Given the description of an element on the screen output the (x, y) to click on. 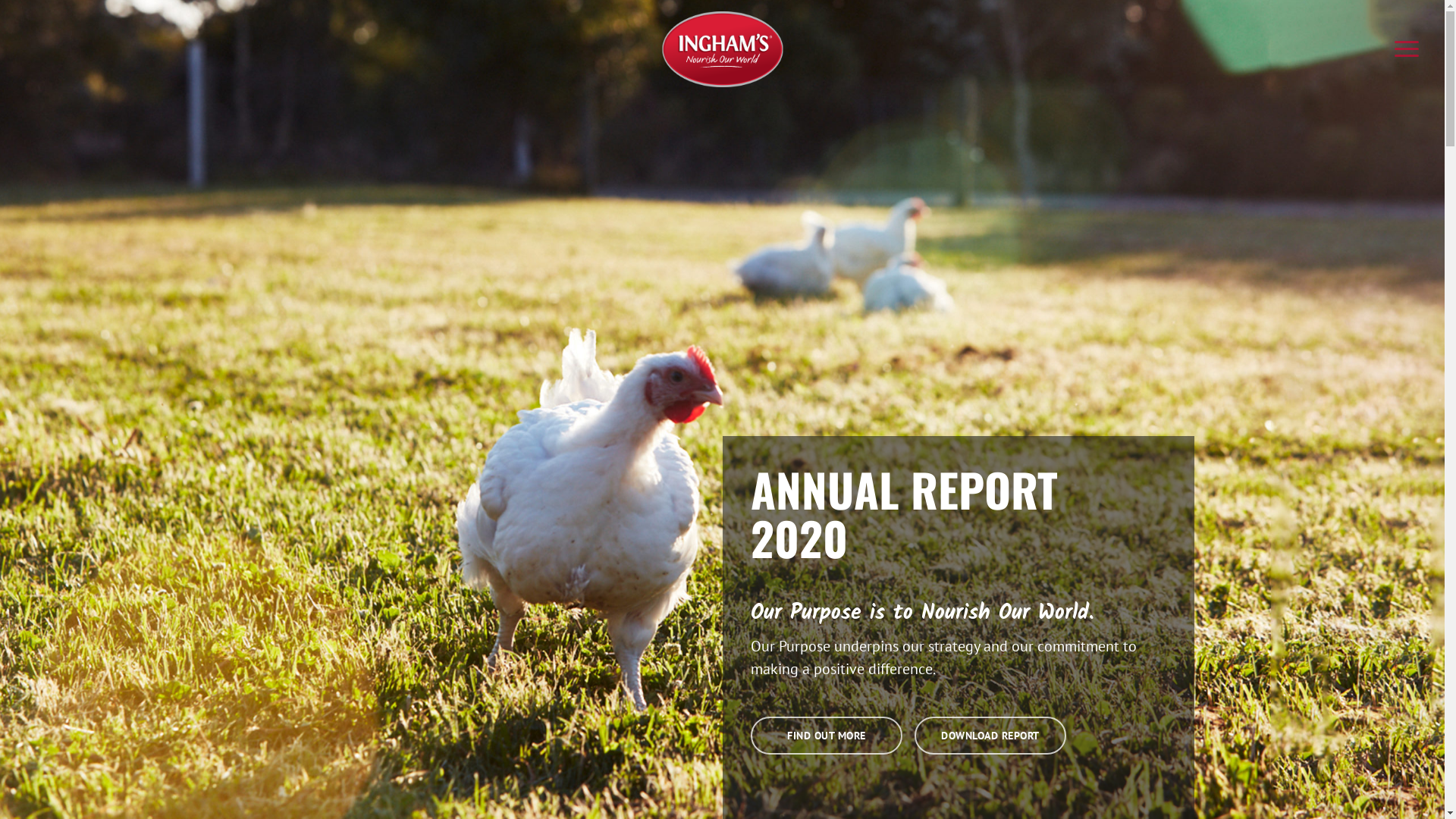
FIND OUT MORE Element type: text (826, 735)
DOWNLOAD REPORT Element type: text (990, 735)
